Given the description of an element on the screen output the (x, y) to click on. 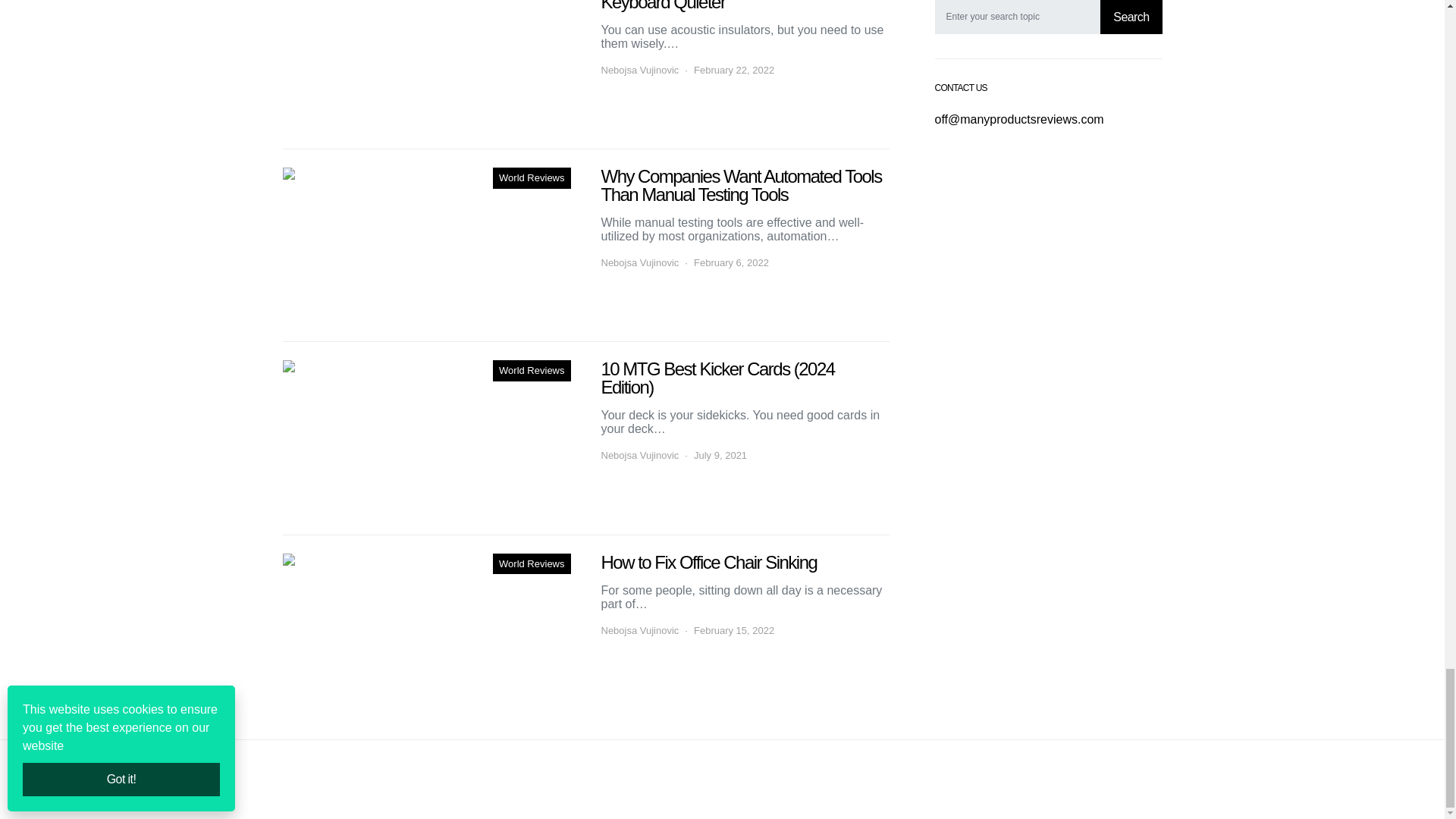
View all posts by Nebojsa Vujinovic (638, 630)
View all posts by Nebojsa Vujinovic (638, 263)
5 Things to Consider When Buying New Tech Products (426, 437)
Nebojsa Vujinovic (638, 70)
5 Things to Consider When Buying New Tech Products (426, 244)
5 Things to Consider When Buying New Tech Products (426, 631)
5 Things to Consider When Buying New Tech Products (426, 65)
View all posts by Nebojsa Vujinovic (638, 70)
View all posts by Nebojsa Vujinovic (638, 455)
